Given the description of an element on the screen output the (x, y) to click on. 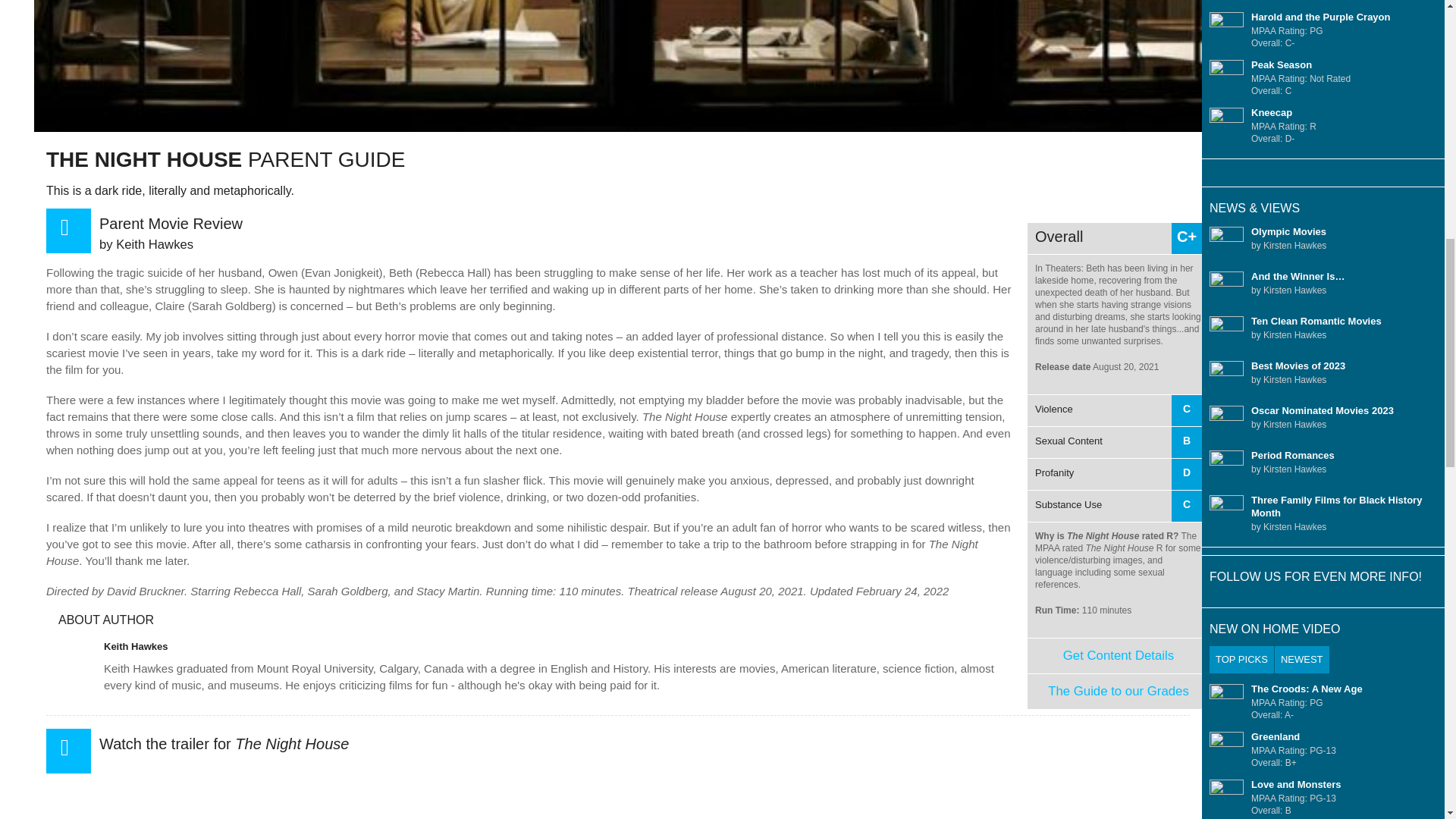
Keith Hawkes (1114, 457)
Get Content Details (135, 645)
The Guide to our Grades (1117, 655)
YouTube video player (1118, 690)
